Given the description of an element on the screen output the (x, y) to click on. 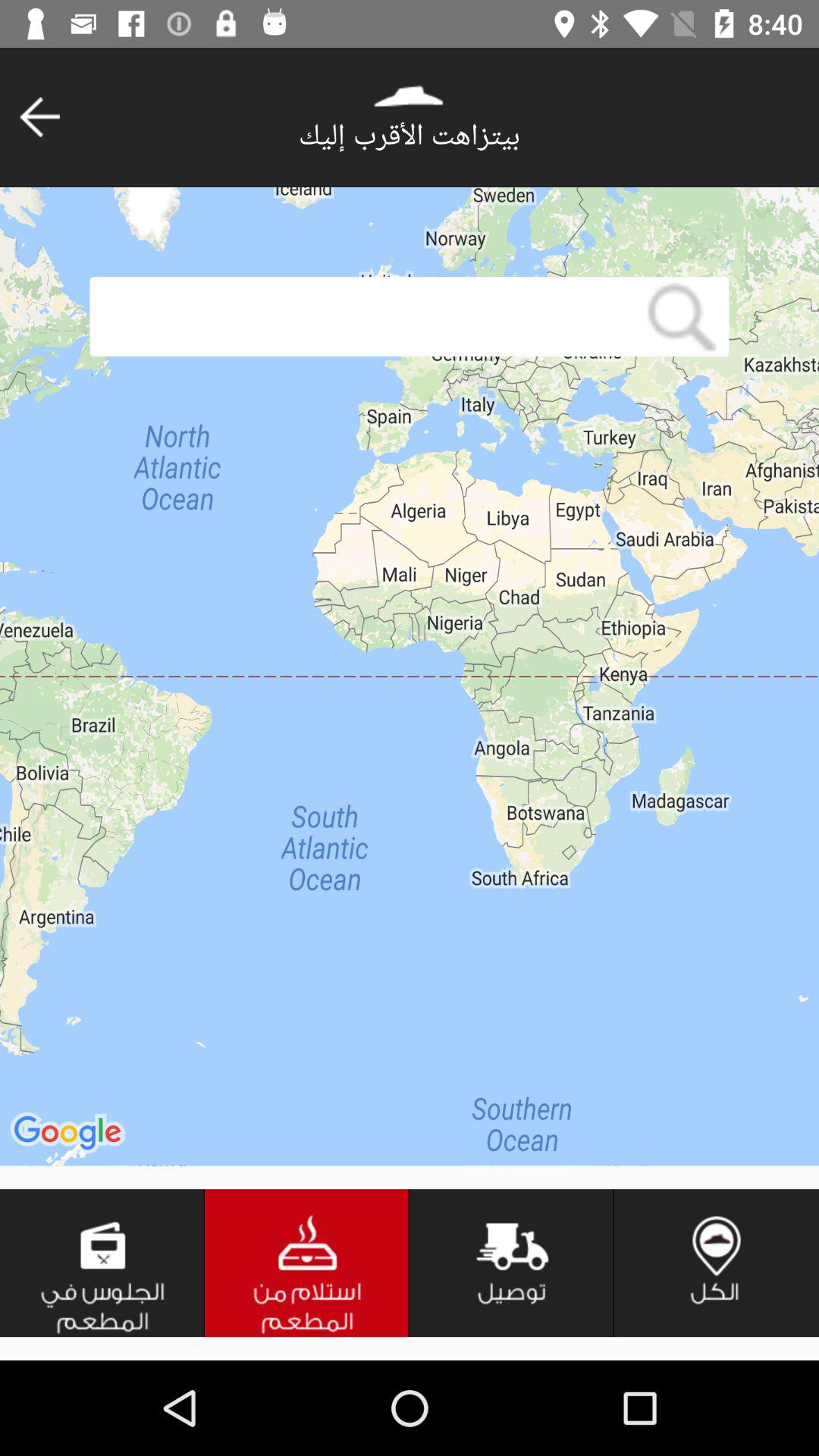
search (681, 316)
